Given the description of an element on the screen output the (x, y) to click on. 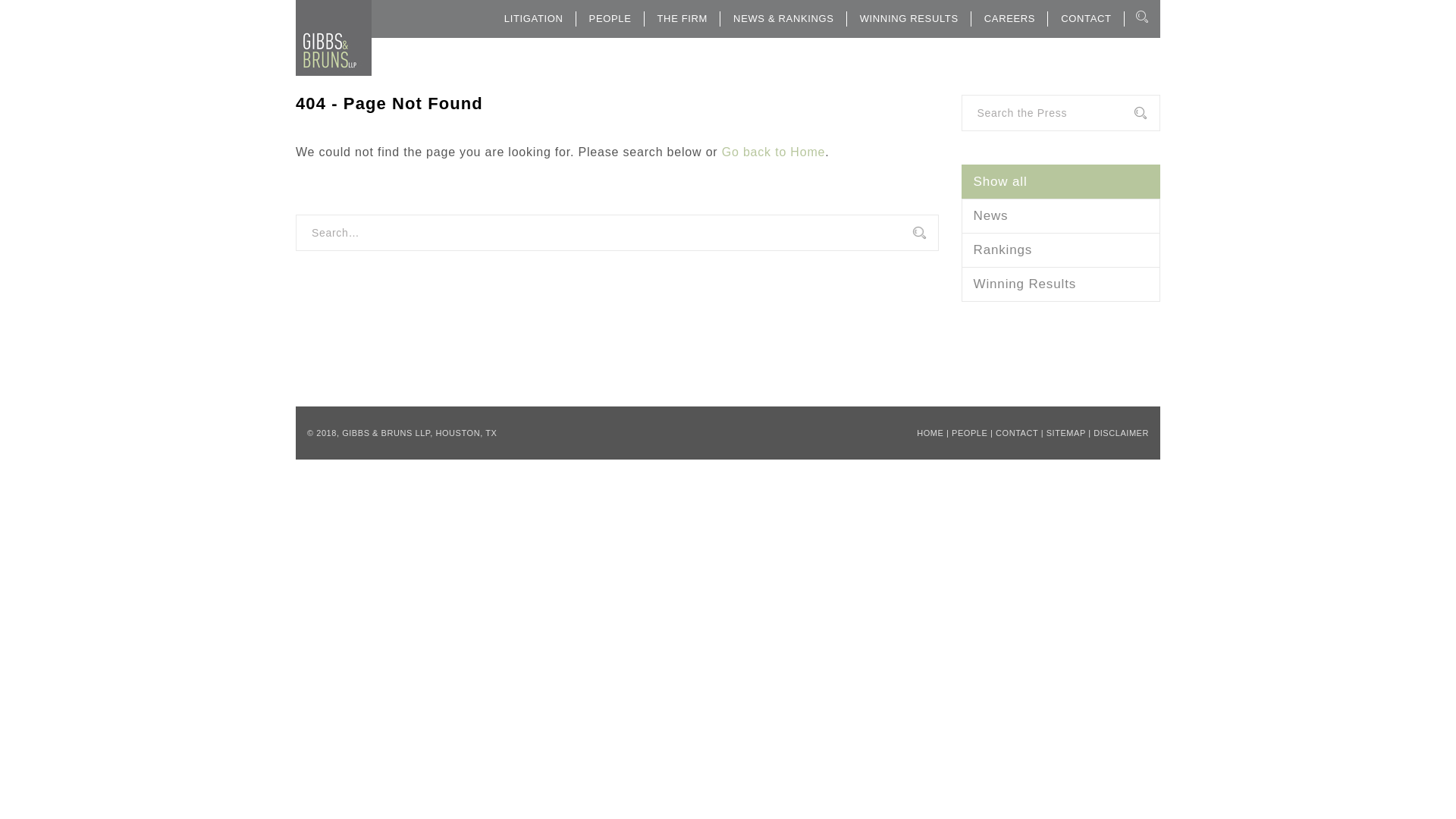
Go (1148, 113)
Go (1148, 113)
Go (926, 233)
Go (926, 233)
Go back to Home (773, 151)
CONTACT (1086, 18)
WINNING RESULTS (909, 18)
CAREERS (1009, 18)
Winning Results (1060, 284)
PEOPLE (610, 18)
Rankings (1060, 249)
Go (926, 233)
Go (1148, 113)
THE FIRM (682, 18)
Show all (1060, 181)
